Given the description of an element on the screen output the (x, y) to click on. 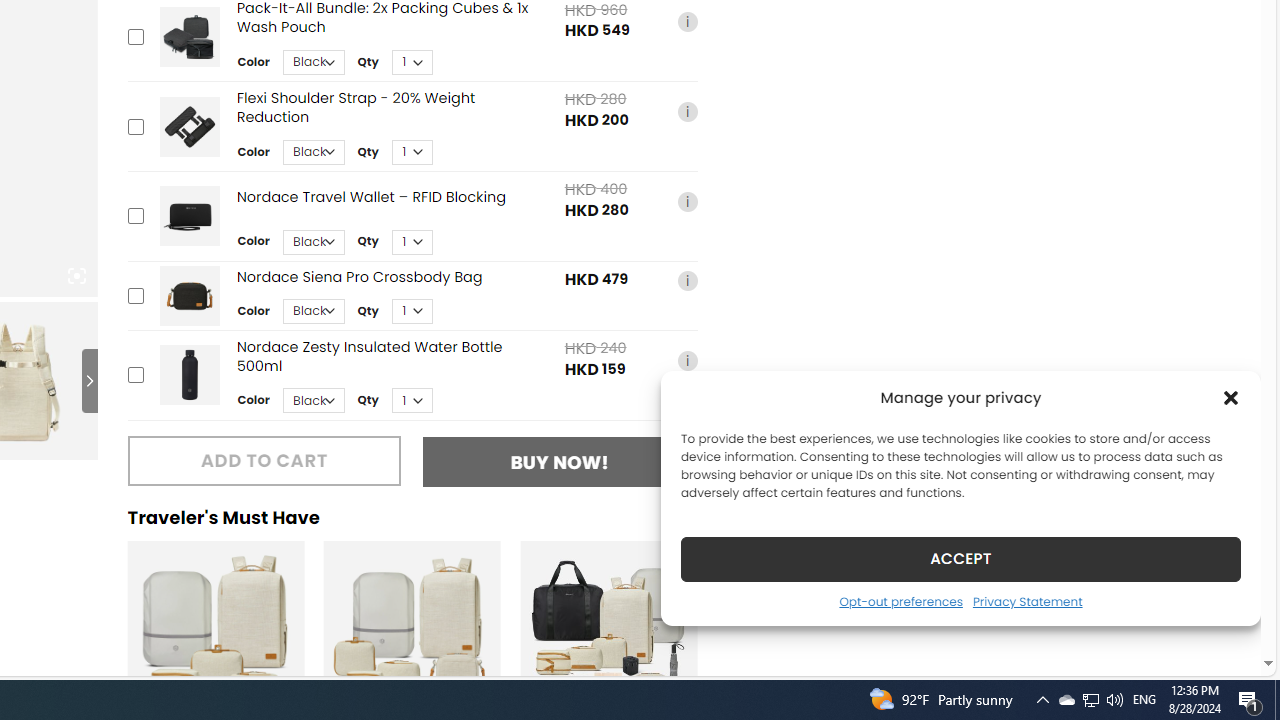
Add this product to cart (134, 375)
BUY NOW! (559, 462)
Privacy Statement (1026, 601)
Pack-It-All Bundle: 2x Packing Cubes & 1x Wash Pouch (189, 35)
Class: cmplz-close (1231, 397)
